Given the description of an element on the screen output the (x, y) to click on. 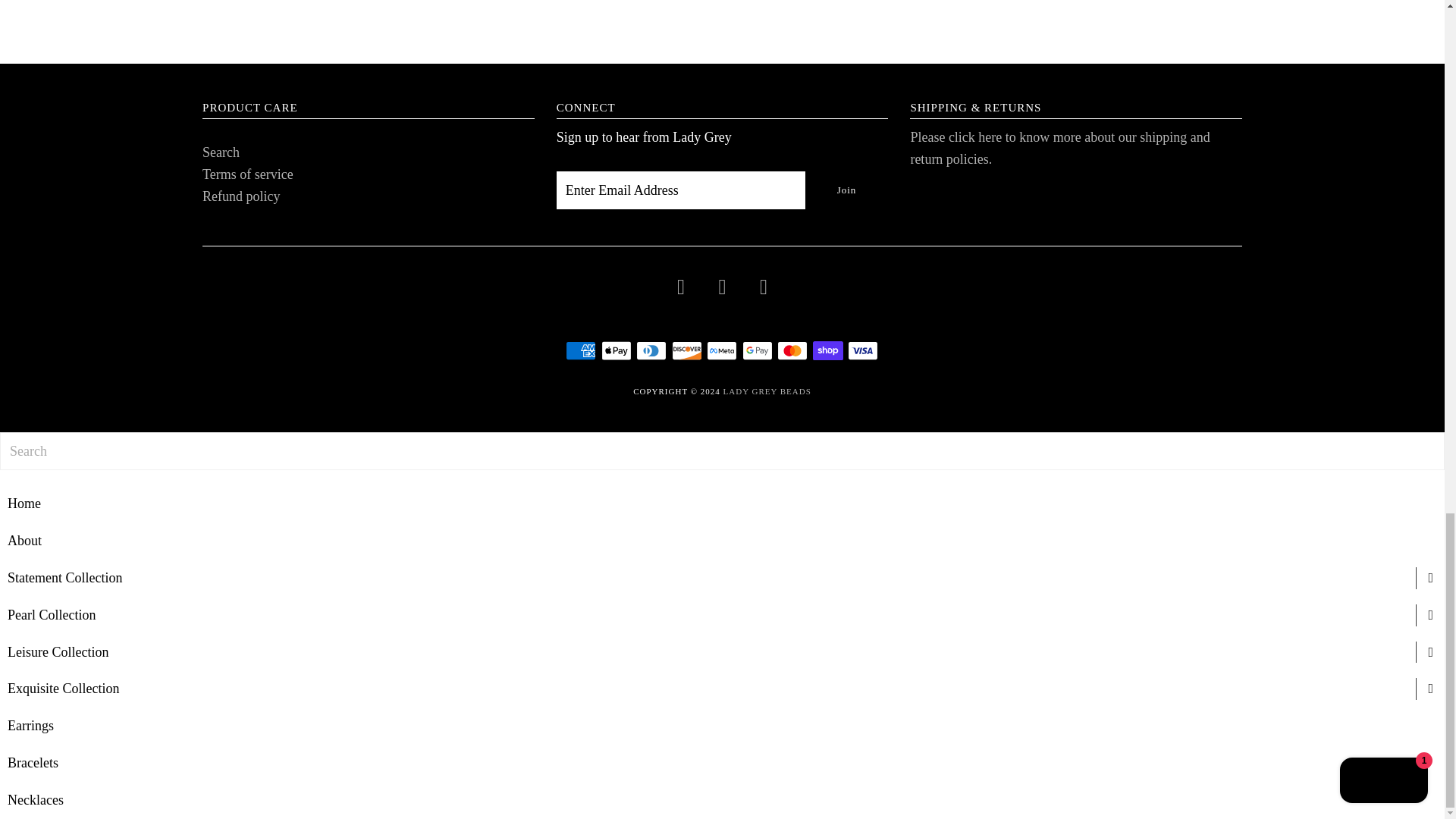
Meta Pay (721, 350)
Google Pay (757, 350)
Diners Club (651, 350)
Shop Pay (827, 350)
Join (846, 190)
American Express (580, 350)
Visa (862, 350)
Mastercard (792, 350)
Apple Pay (616, 350)
Discover (686, 350)
